Given the description of an element on the screen output the (x, y) to click on. 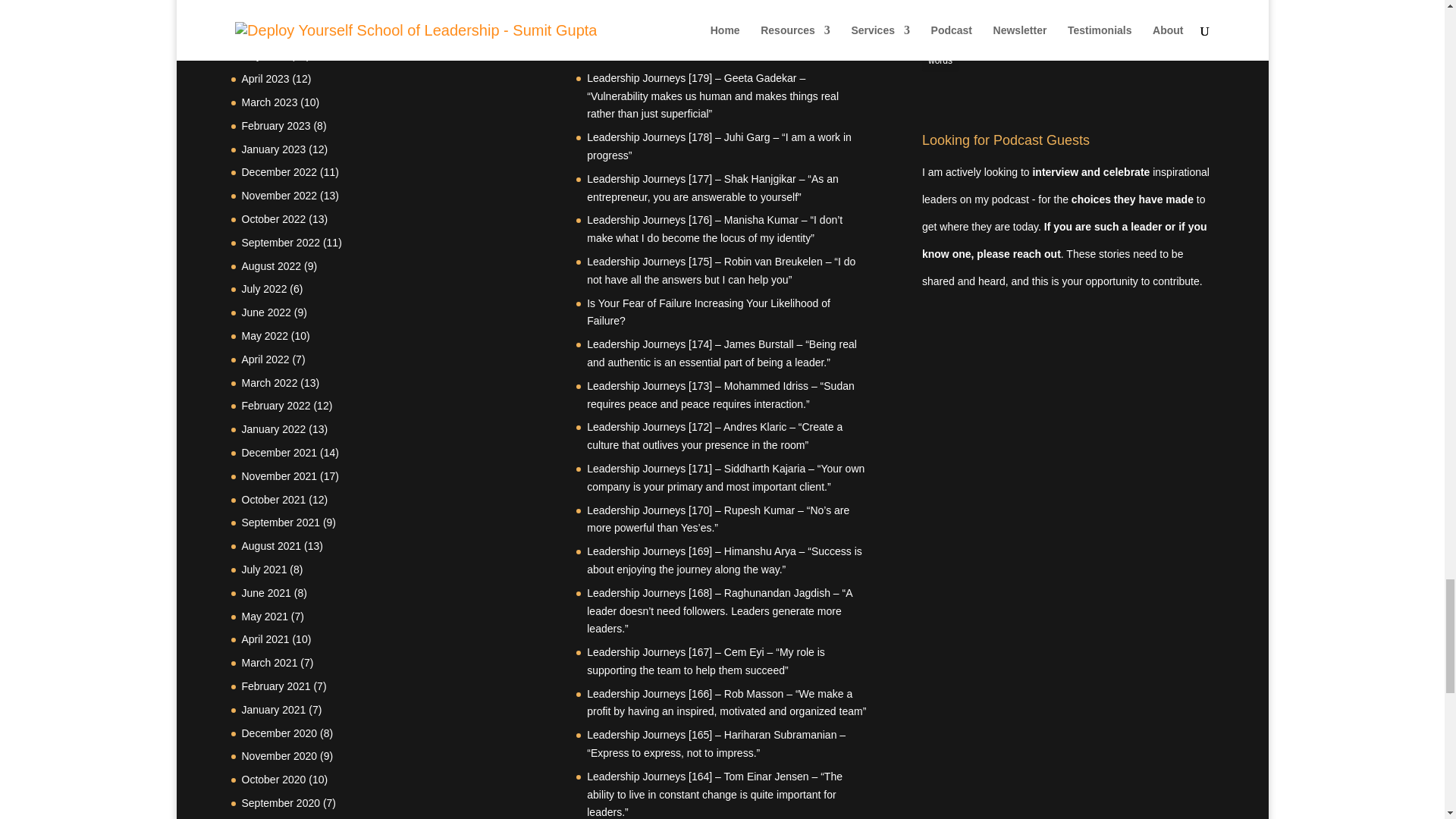
July 2023 (263, 9)
